Given the description of an element on the screen output the (x, y) to click on. 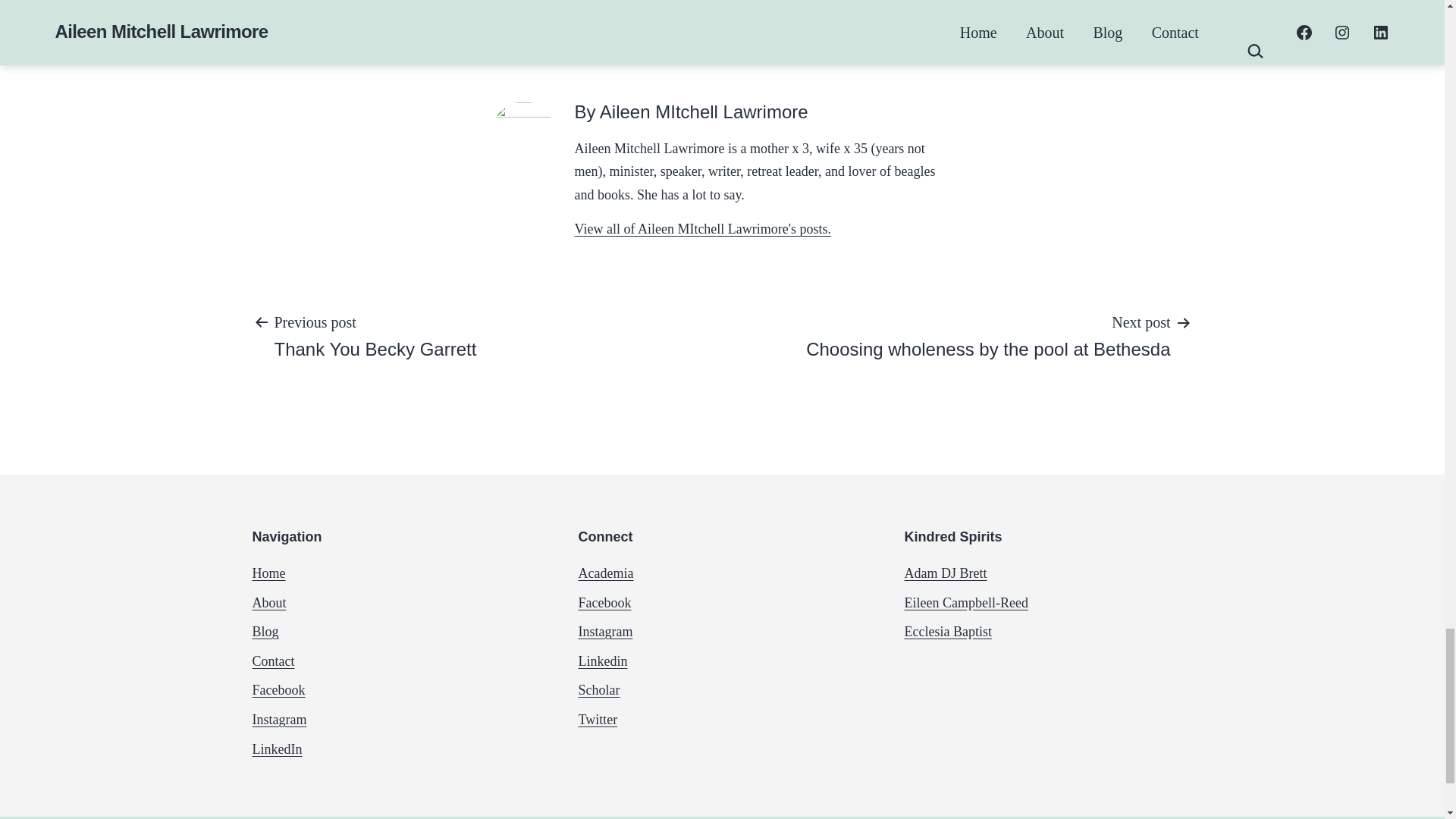
Blog (264, 631)
LinkedIn (374, 335)
Contact (276, 749)
View all of Aileen MItchell Lawrimore's posts. (272, 661)
Family (703, 228)
About (935, 12)
... And More (268, 602)
Instagram (852, 12)
Facebook (988, 335)
Blog (278, 719)
Home (277, 689)
